Given the description of an element on the screen output the (x, y) to click on. 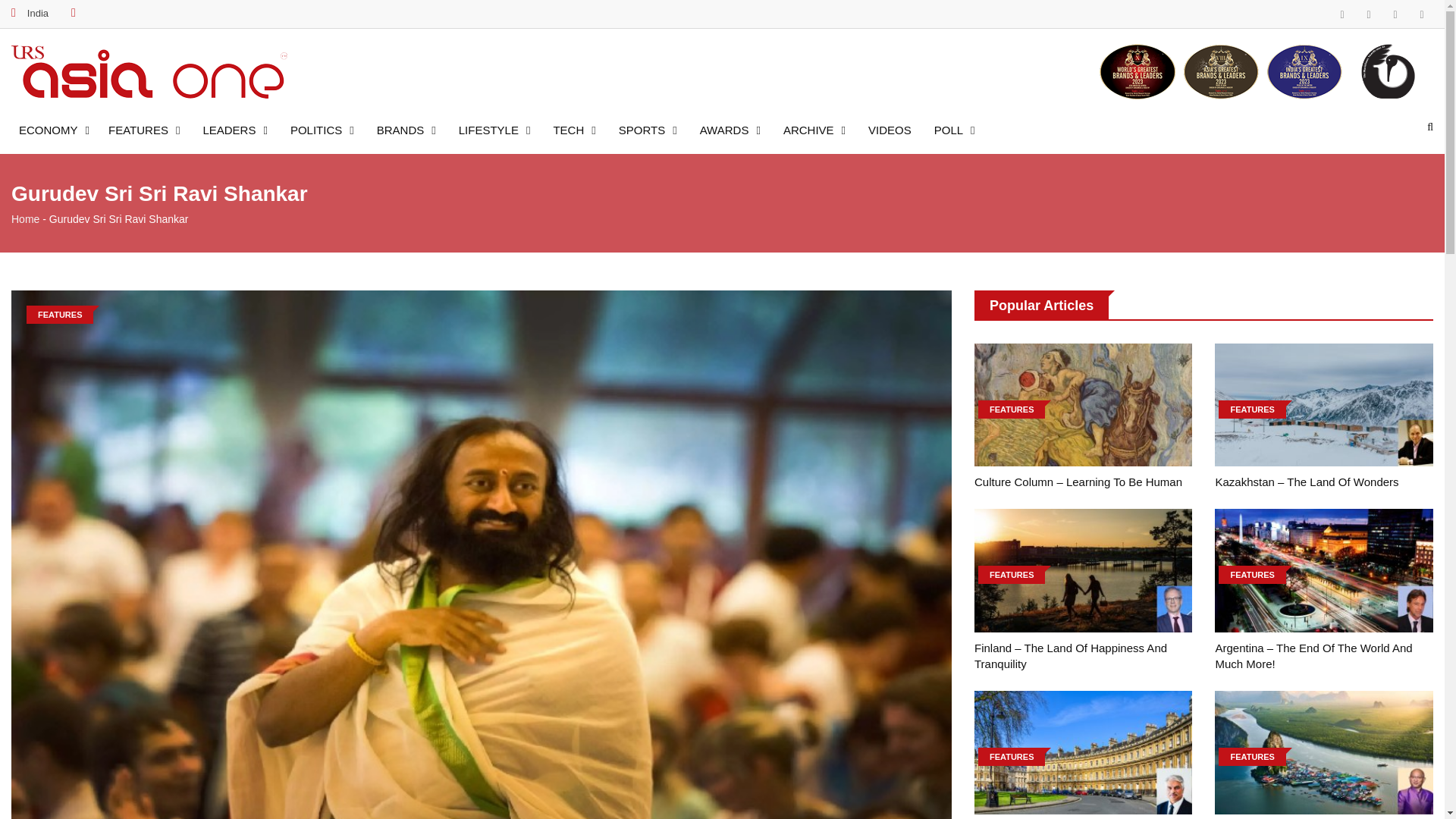
ECONOMY (57, 126)
LIFESTYLE (493, 126)
POLITICS (322, 126)
BRANDS (405, 126)
FEATURES (143, 126)
LEADERS (234, 126)
